Given the description of an element on the screen output the (x, y) to click on. 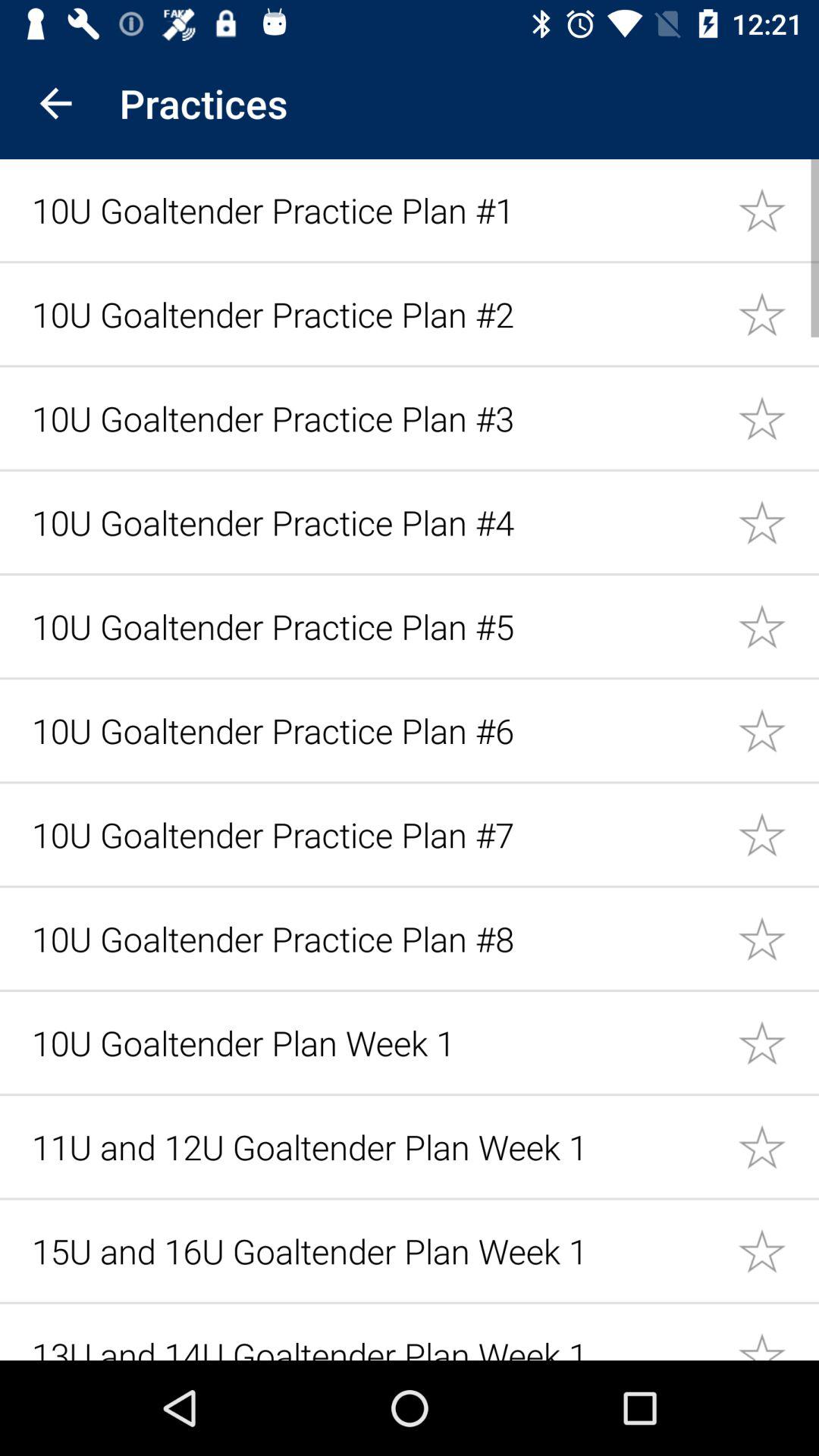
mark as favorite (778, 730)
